Given the description of an element on the screen output the (x, y) to click on. 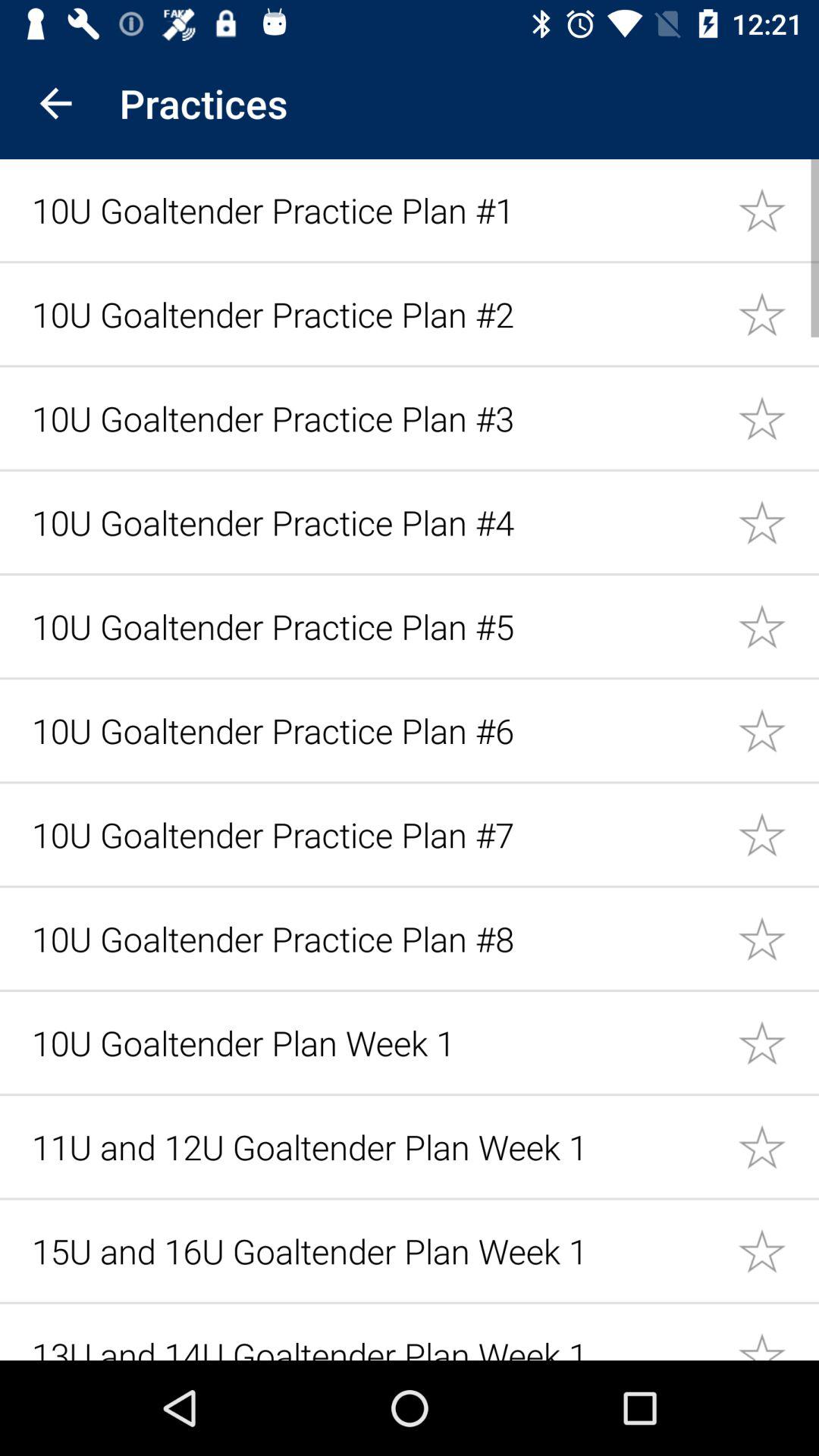
mark as favorite (778, 730)
